Given the description of an element on the screen output the (x, y) to click on. 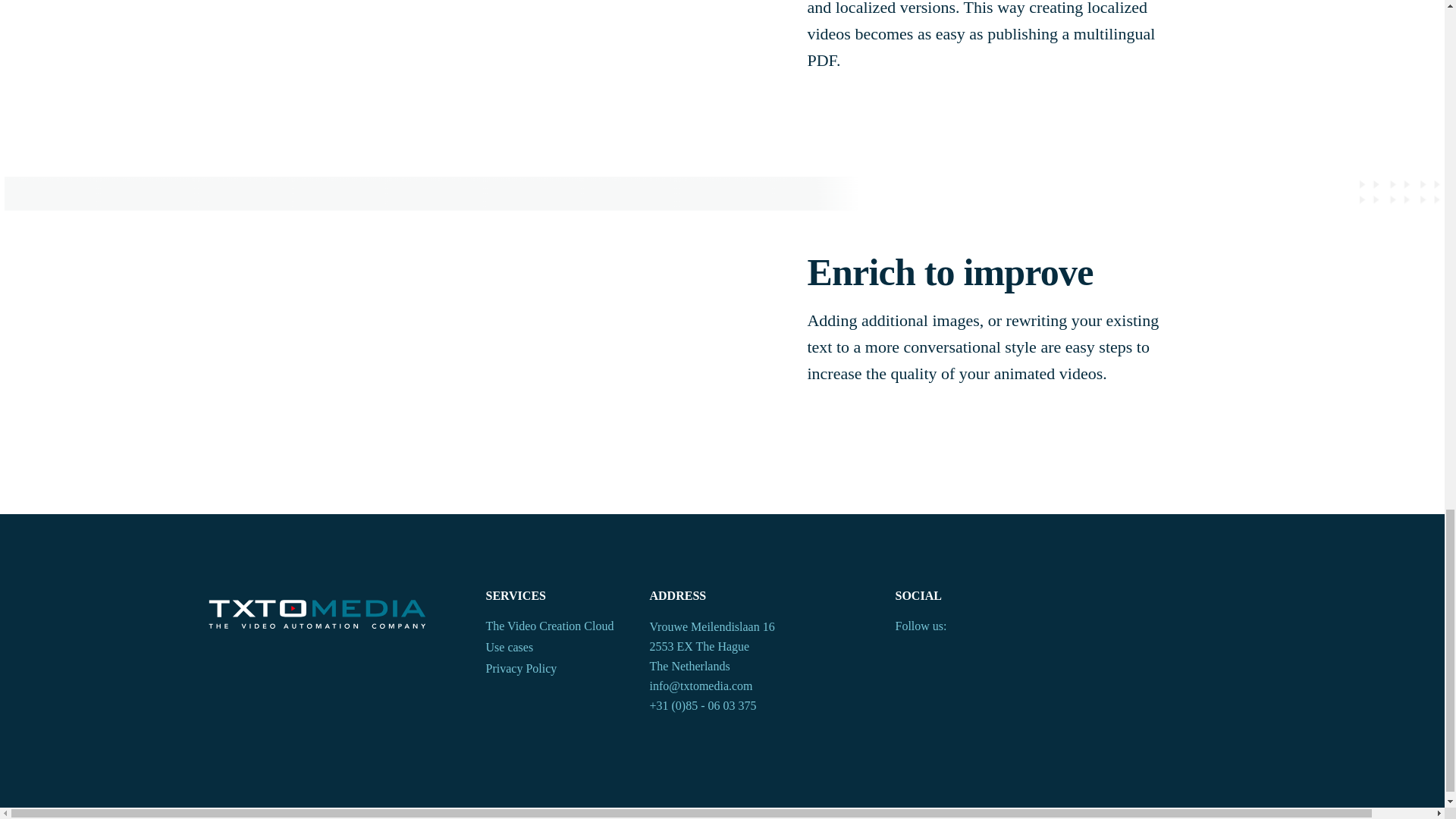
Follow us: (920, 627)
The Video Creation Cloud (557, 627)
Privacy Policy (557, 670)
Use cases (557, 649)
